Given the description of an element on the screen output the (x, y) to click on. 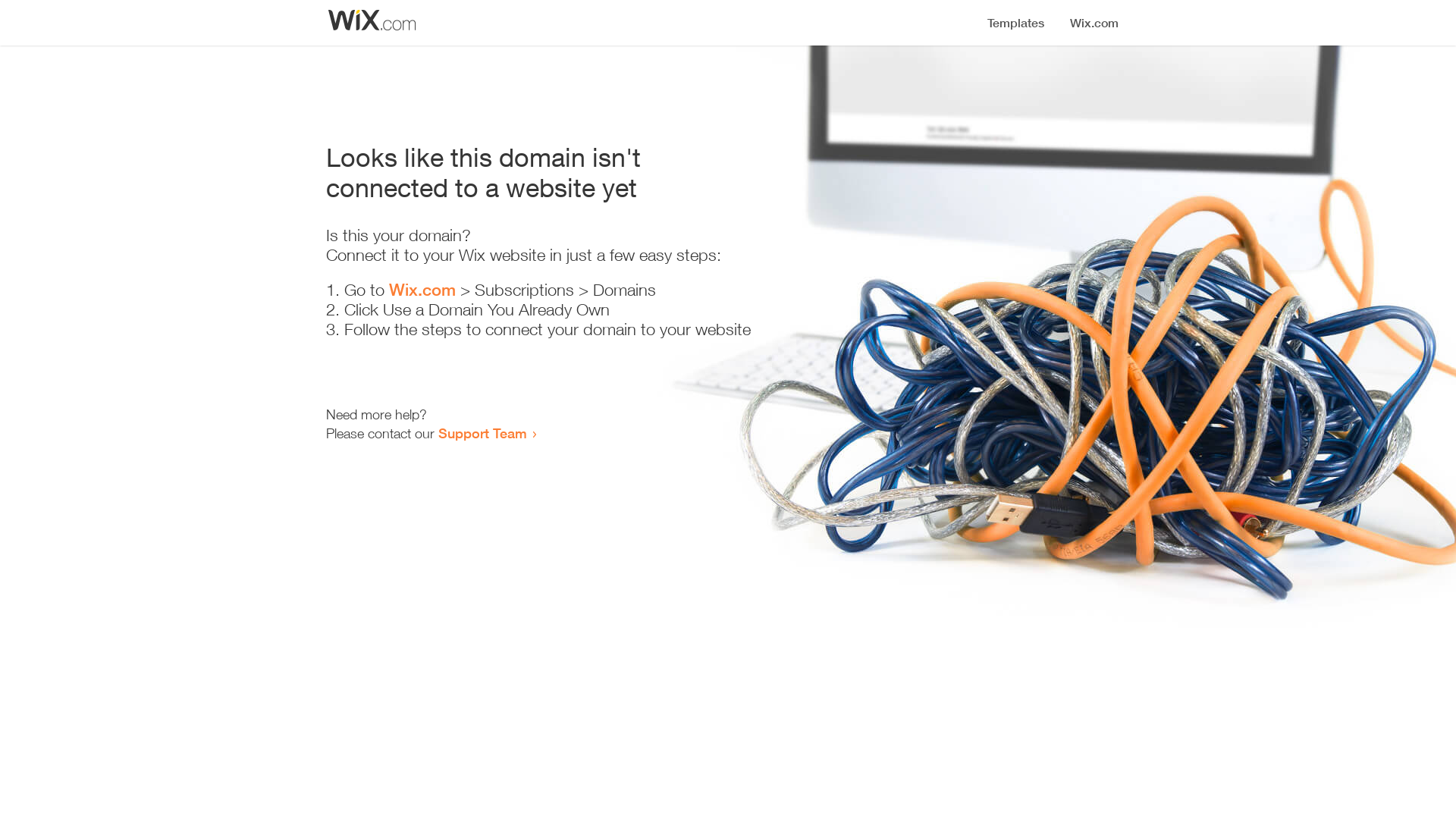
Wix.com Element type: text (422, 289)
Support Team Element type: text (482, 432)
